Given the description of an element on the screen output the (x, y) to click on. 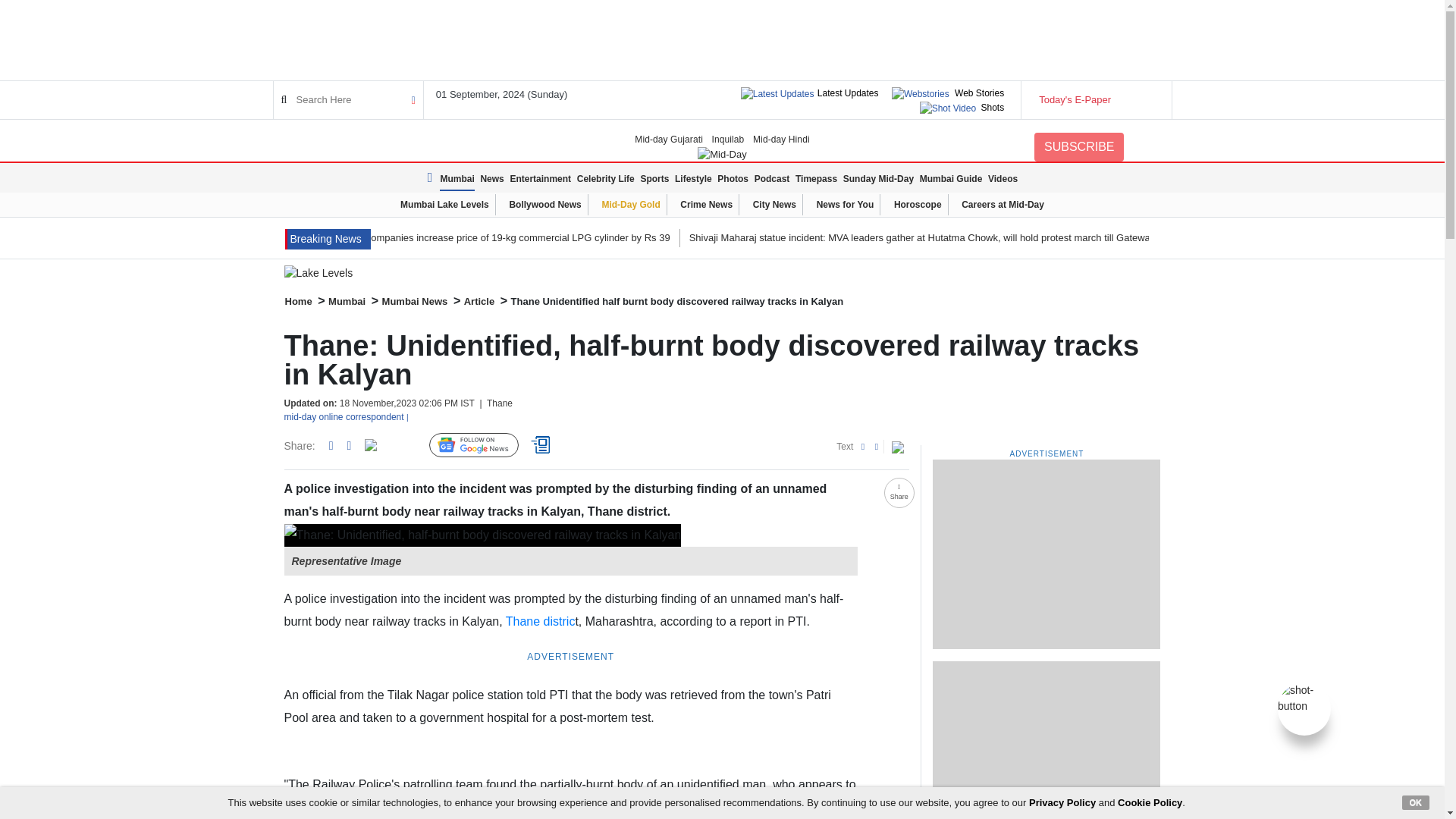
Quick Reads (543, 445)
Latest News (328, 239)
Mid-day Hindi (780, 138)
Latest Updates (847, 92)
Today's E-Paper (1095, 99)
Lake Levels (721, 273)
Inquilab (728, 138)
Midday Shot Videos (1304, 697)
SUBSCRIBE (1078, 146)
Latest News (432, 177)
